Given the description of an element on the screen output the (x, y) to click on. 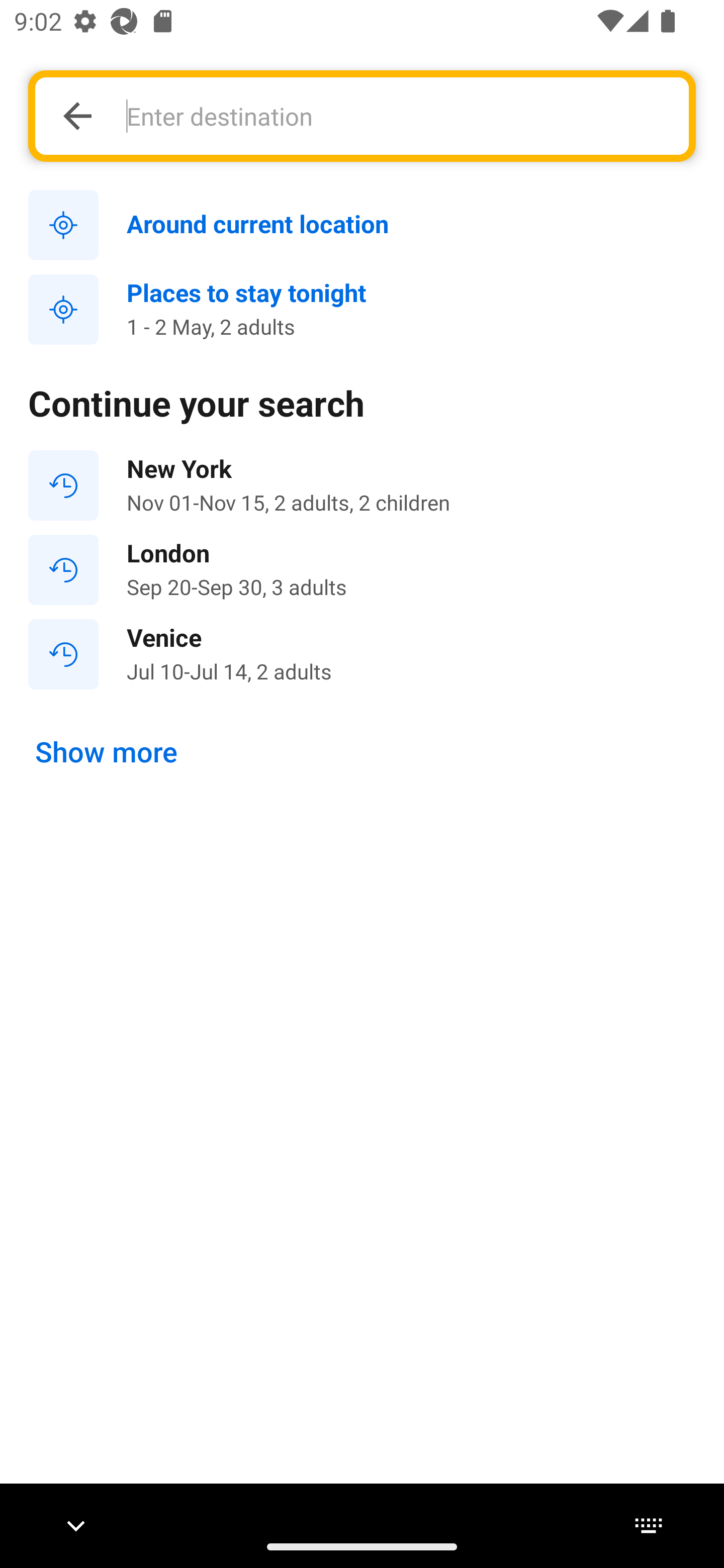
Enter destination (396, 115)
Around current location (362, 225)
Places to stay tonight 1 - 2 May, 2 adults (362, 309)
New York Nov 01-Nov 15, 2 adults, 2 children (362, 485)
London Sep 20-Sep 30, 3 adults  (362, 569)
Venice Jul 10-Jul 14, 2 adults  (362, 653)
Show more (106, 752)
